Given the description of an element on the screen output the (x, y) to click on. 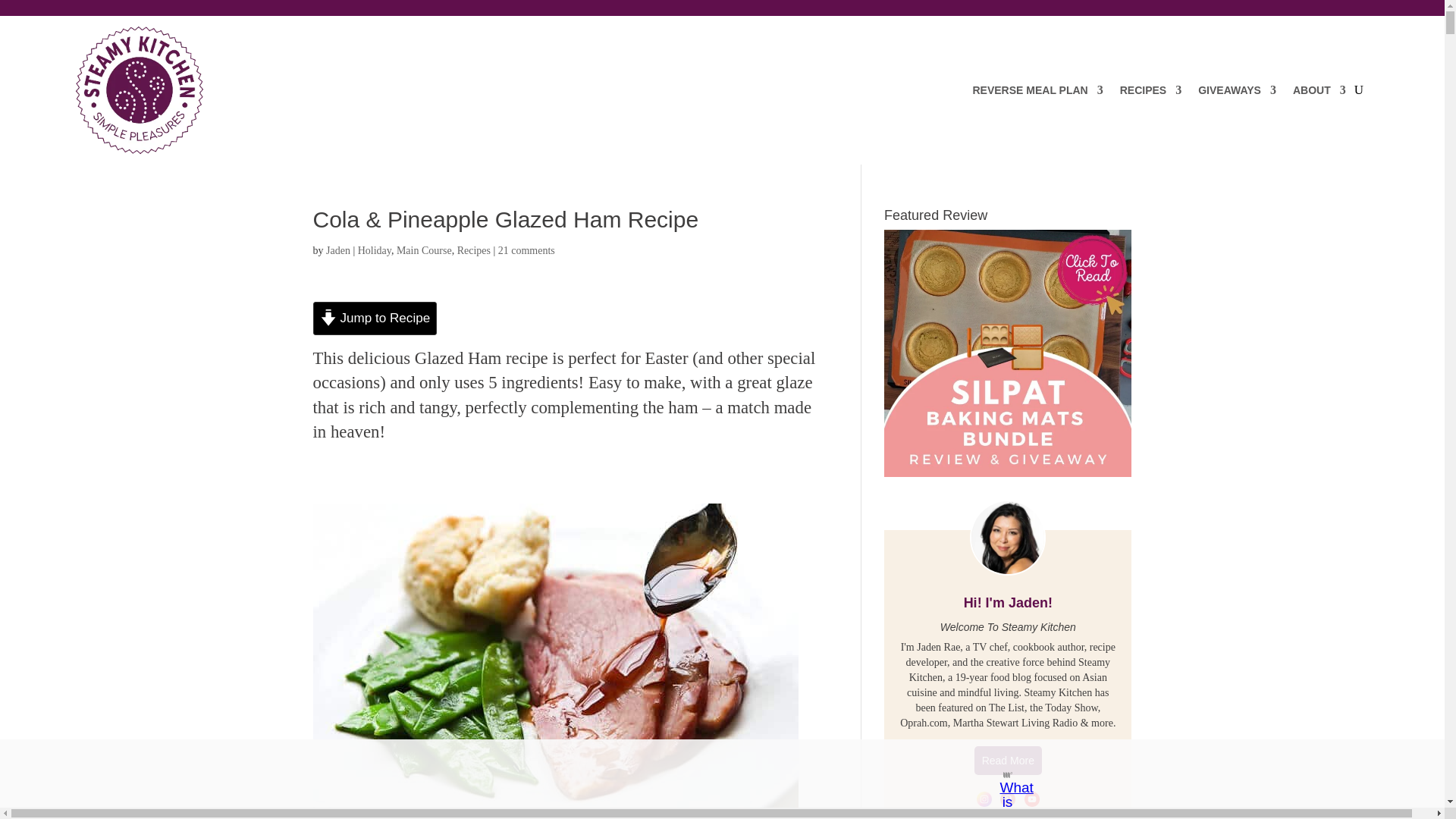
Posts by Jaden (338, 250)
REVERSE MEAL PLAN (1037, 90)
